Given the description of an element on the screen output the (x, y) to click on. 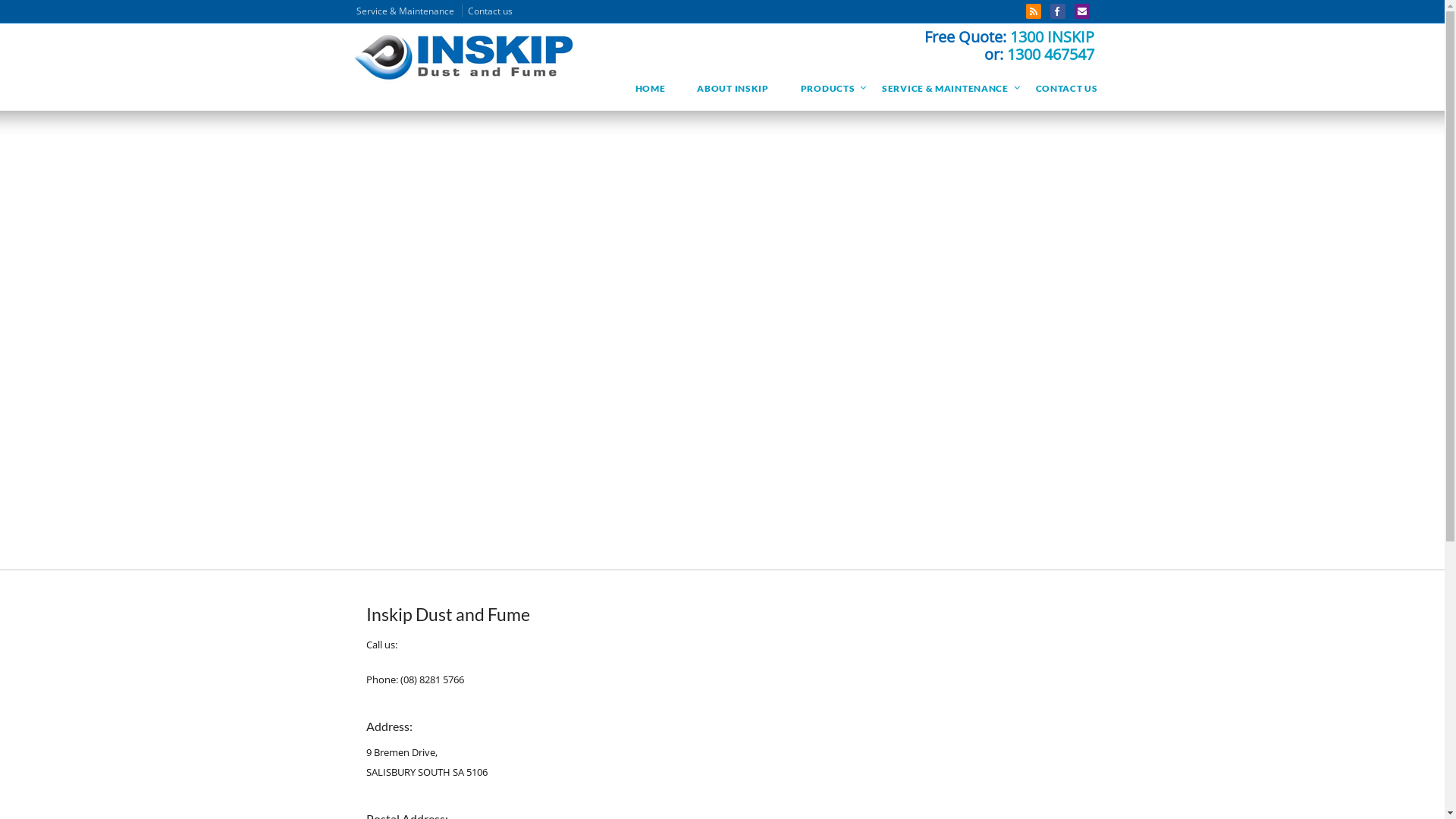
Free Quote: 1300 INSKIP
or: 1300 467547 Element type: text (1008, 45)
HOME Element type: text (650, 88)
Contact us Element type: text (489, 10)
Facebook Element type: text (1056, 10)
ABOUT INSKIP Element type: text (732, 88)
CONTACT US Element type: text (1066, 88)
RSS Element type: text (1032, 10)
Email Element type: text (1080, 10)
Service & Maintenance Element type: text (409, 10)
SERVICE & MAINTENANCE Element type: text (942, 88)
PRODUCTS Element type: text (825, 88)
